Given the description of an element on the screen output the (x, y) to click on. 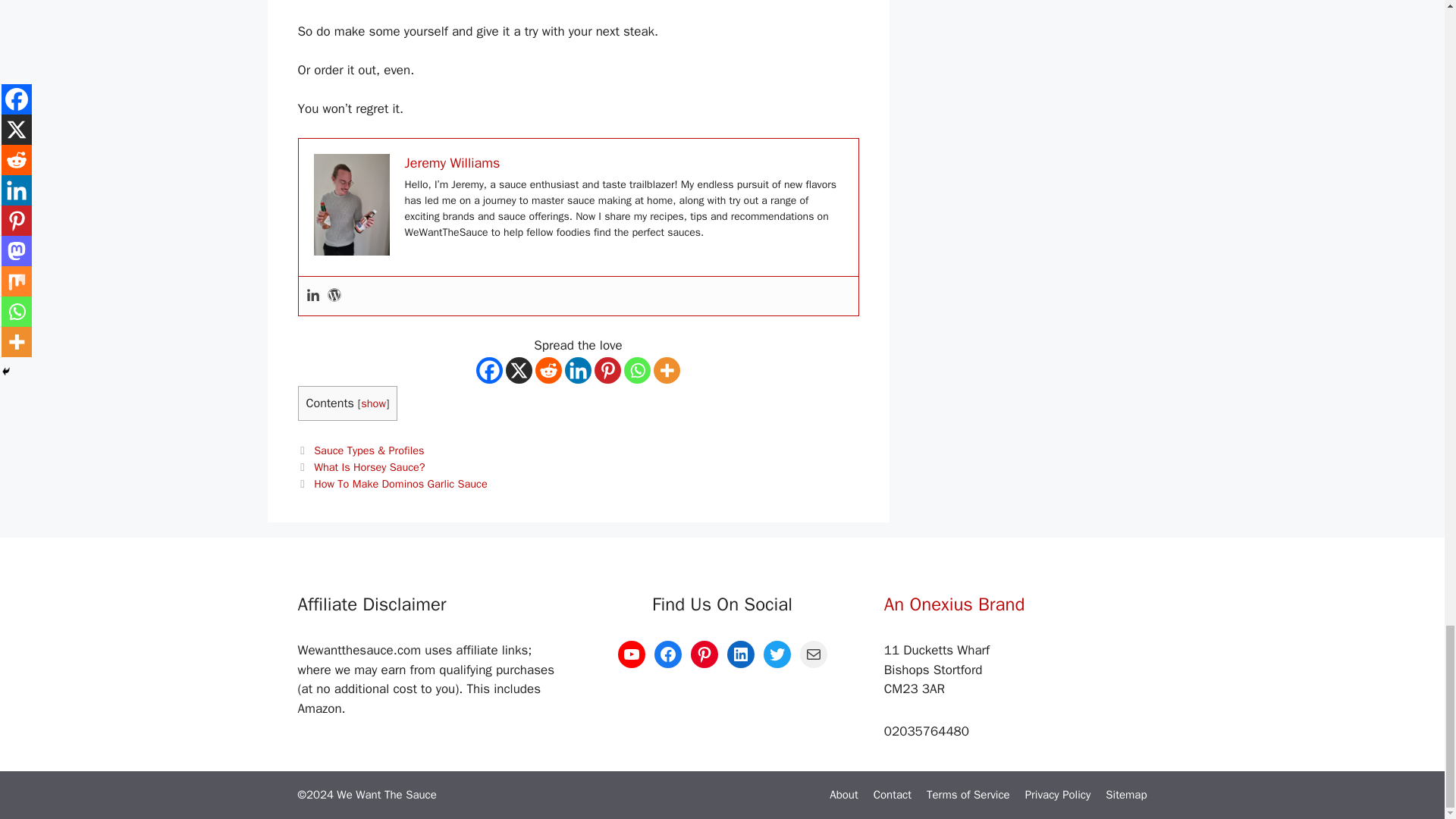
Facebook (489, 370)
Reddit (548, 370)
X (518, 370)
